Given the description of an element on the screen output the (x, y) to click on. 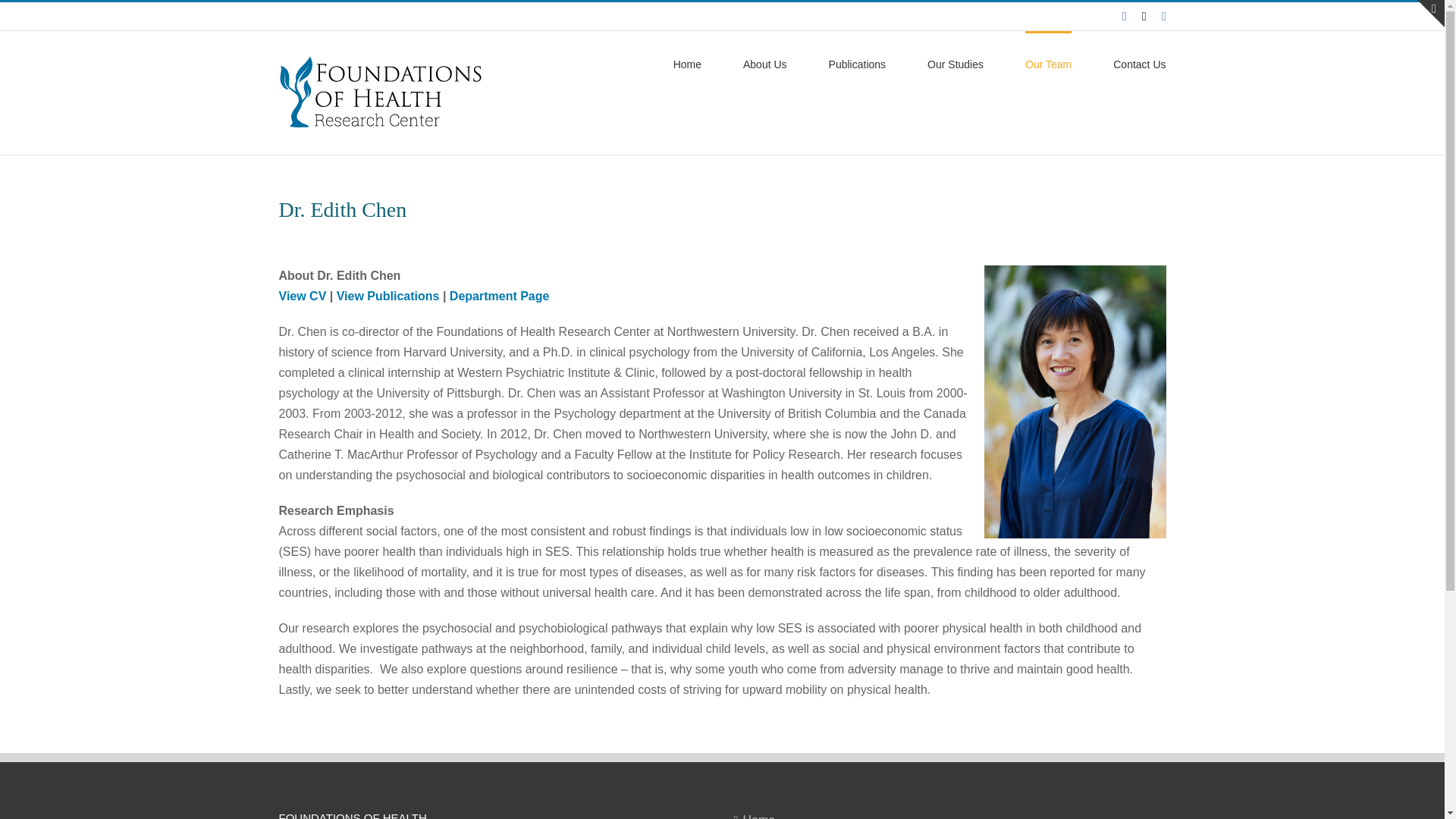
Publications (857, 63)
